Given the description of an element on the screen output the (x, y) to click on. 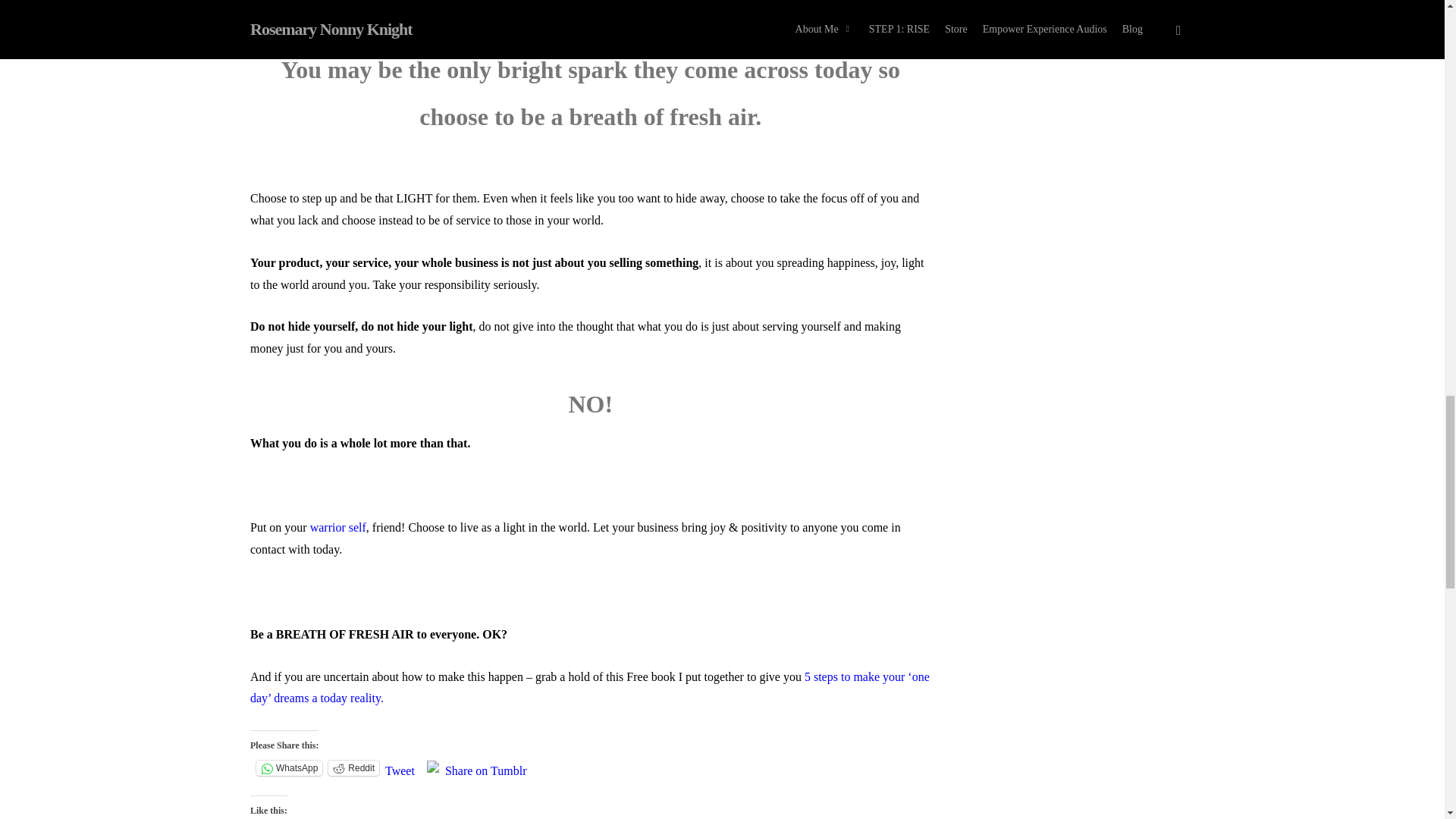
Click to share on Reddit (353, 767)
Share on Tumblr (486, 766)
warrior self (338, 526)
Tweet (399, 766)
Wealthy Warrior Alliance (338, 526)
Reddit (353, 767)
WhatsApp (288, 767)
Share on Tumblr (486, 766)
Click to share on WhatsApp (288, 767)
